Given the description of an element on the screen output the (x, y) to click on. 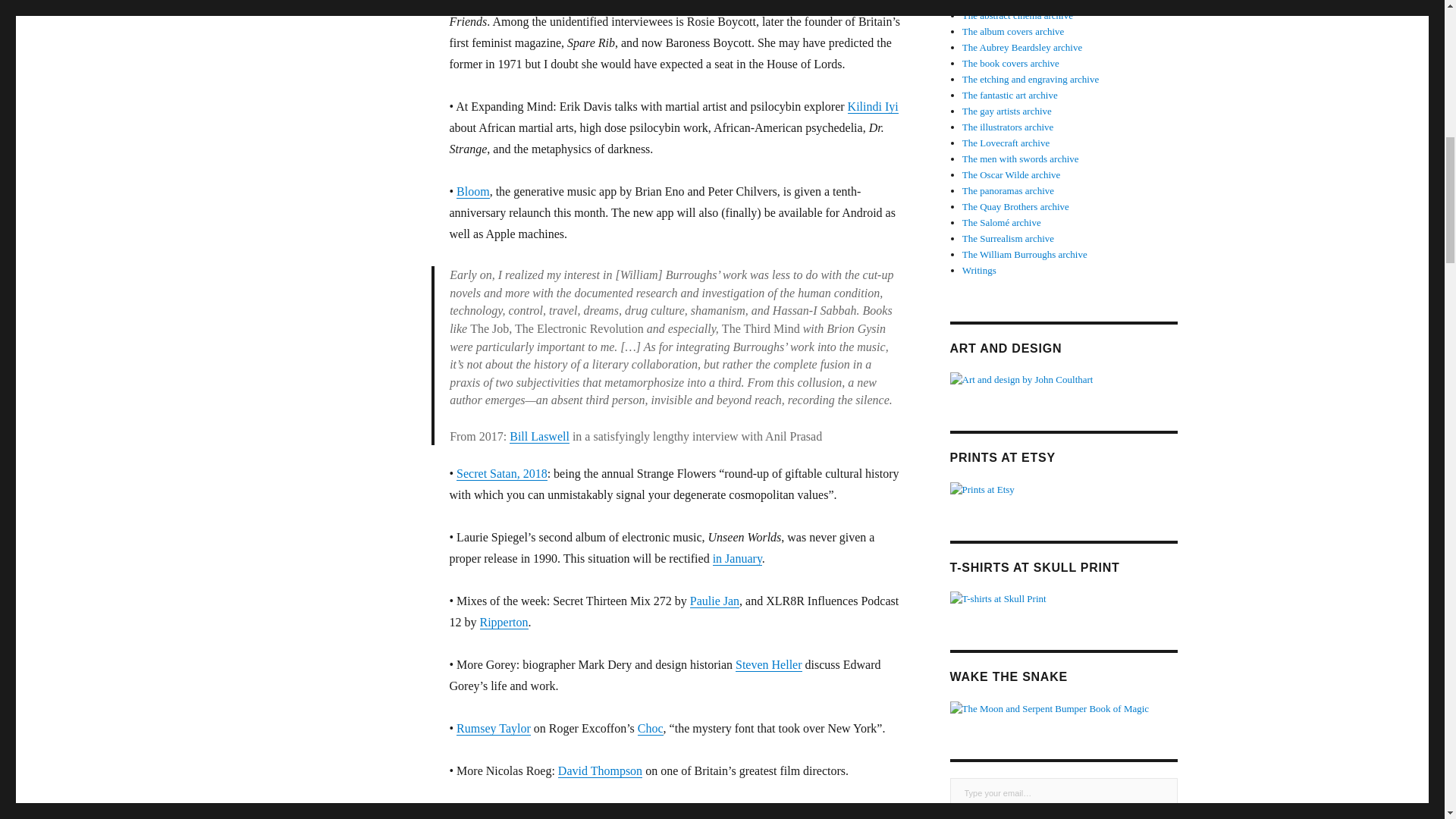
David Thompson (599, 770)
Please fill in this field. (1062, 793)
Bloom (473, 191)
Steven Heller (768, 664)
Choc (650, 727)
Kilindi Iyi (872, 106)
Bill Laswell (539, 435)
John Waters (486, 812)
Secret Satan, 2018 (502, 472)
Rumsey Taylor (494, 727)
